Given the description of an element on the screen output the (x, y) to click on. 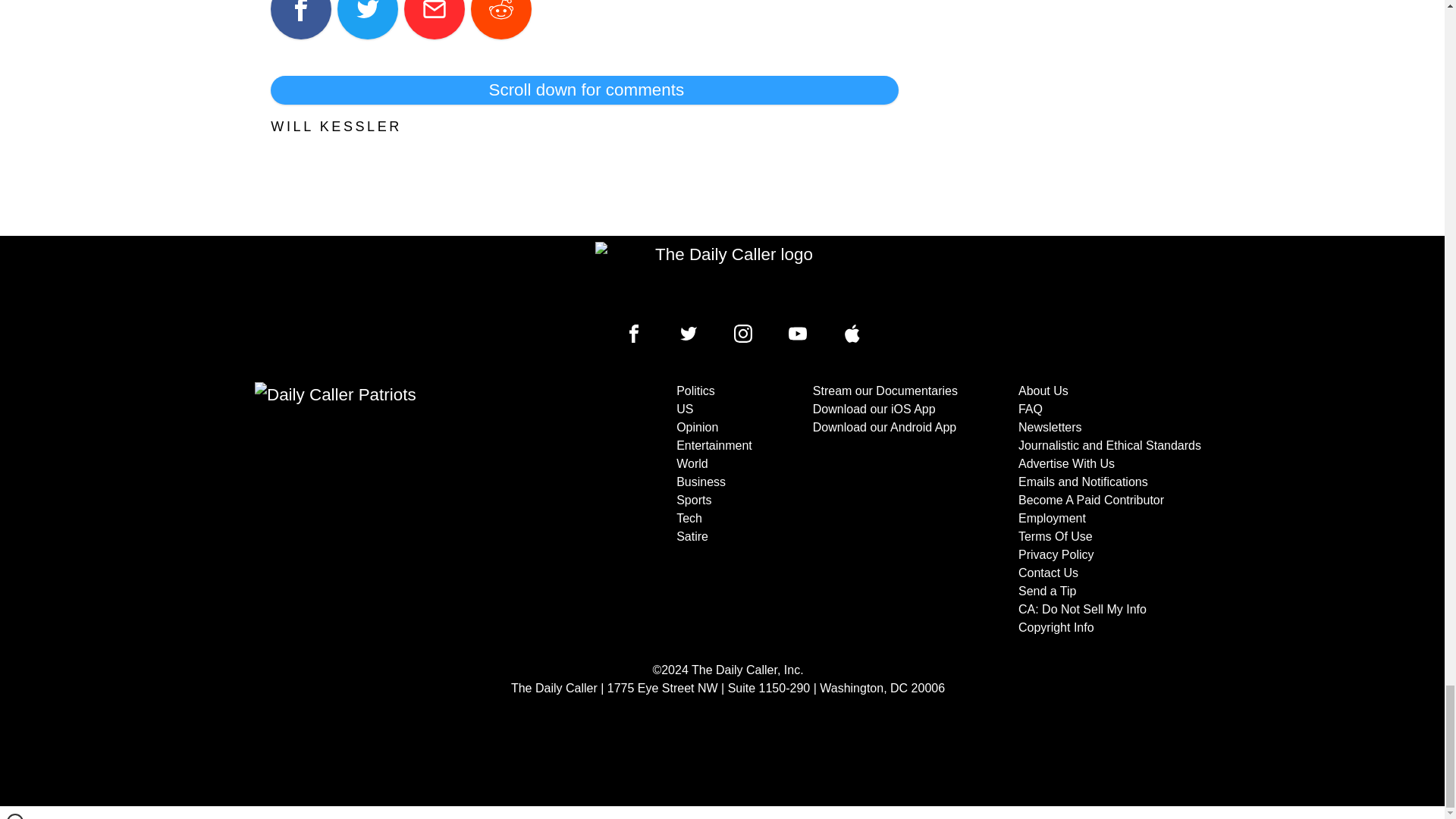
Scroll down for comments (584, 90)
Subscribe to The Daily Caller (405, 509)
Daily Caller YouTube (797, 333)
To home page (727, 276)
Daily Caller Facebook (633, 333)
Daily Caller YouTube (852, 333)
Daily Caller Instagram (742, 333)
Daily Caller Twitter (688, 333)
